Given the description of an element on the screen output the (x, y) to click on. 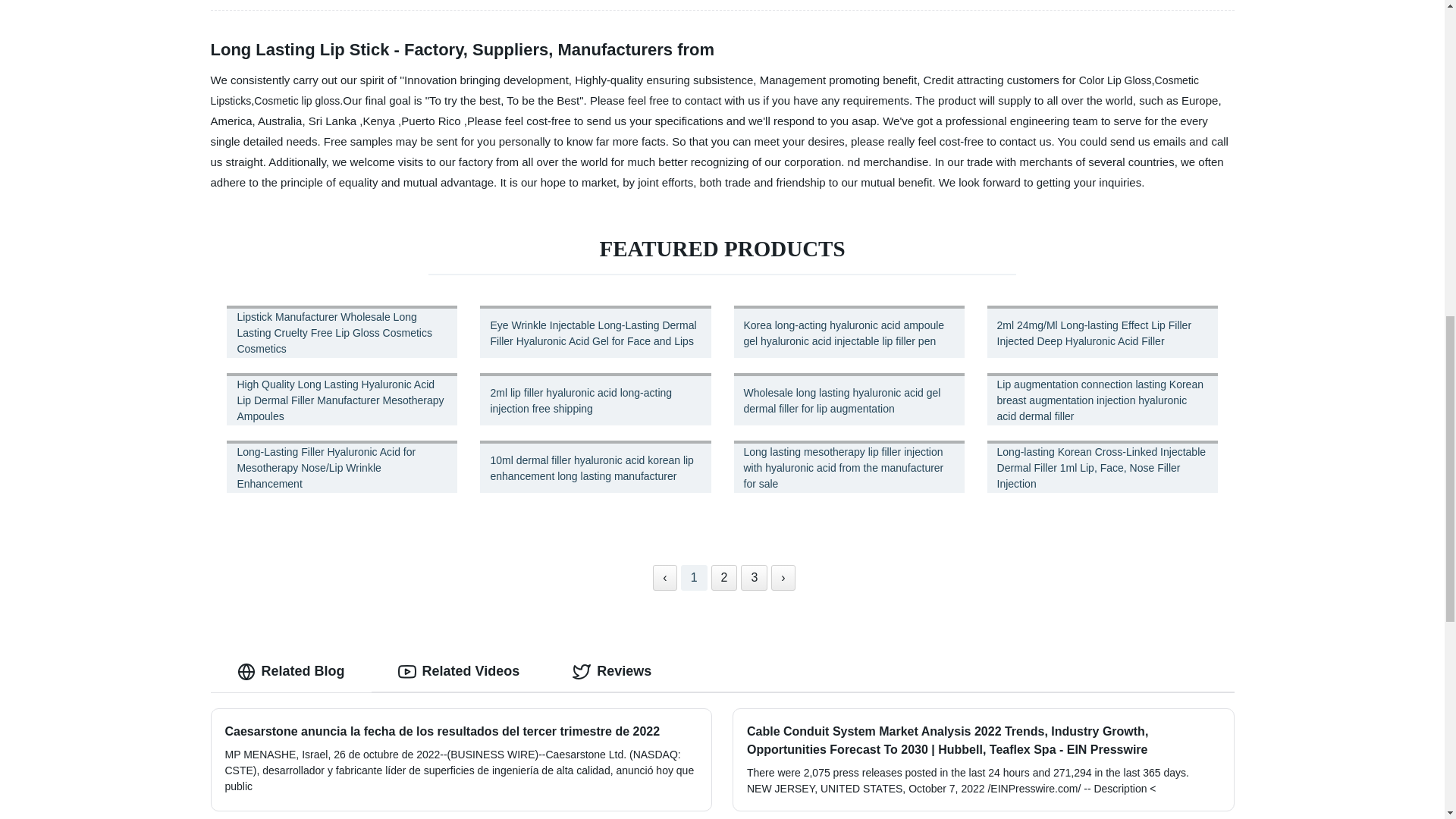
Color Lip Gloss (1114, 80)
Color Lip Gloss (1114, 80)
Cosmetic Lipsticks (704, 90)
Cosmetic lip gloss (296, 100)
Cosmetic lip gloss (296, 100)
Cosmetic Lipsticks (704, 90)
